Given the description of an element on the screen output the (x, y) to click on. 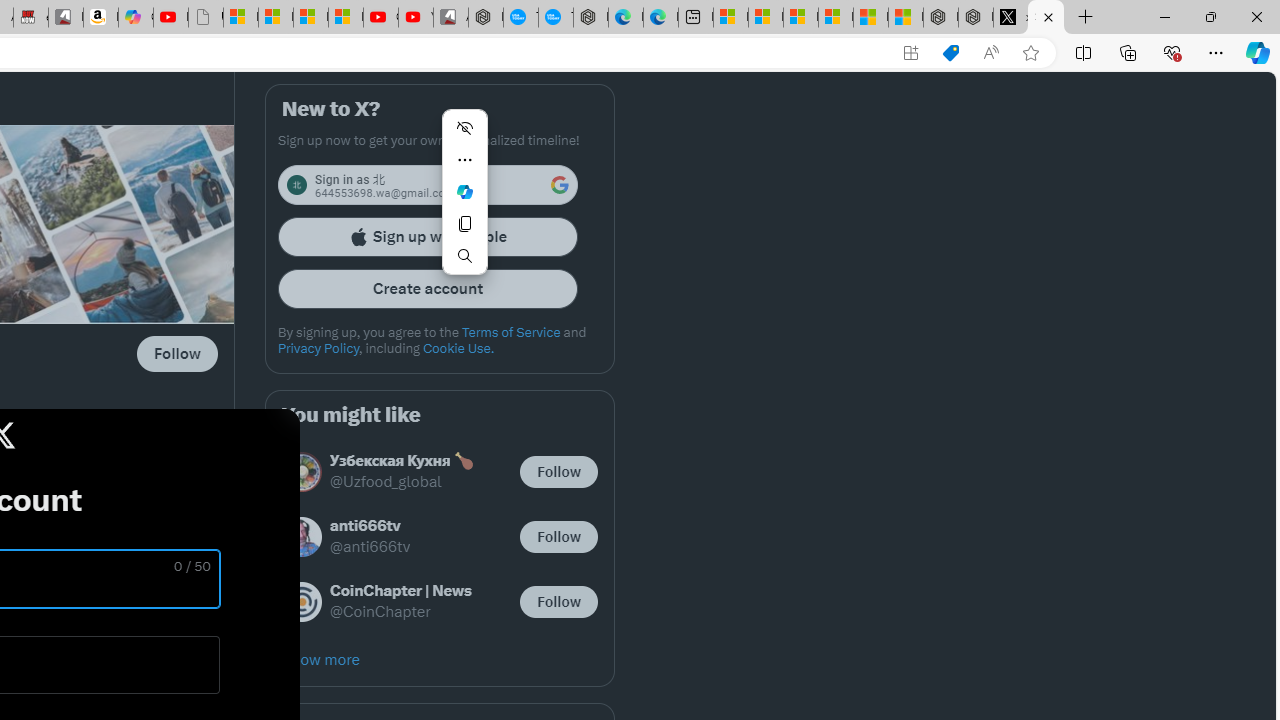
Copy (464, 223)
Hide menu (464, 128)
Sign up for X / X (1046, 17)
